Given the description of an element on the screen output the (x, y) to click on. 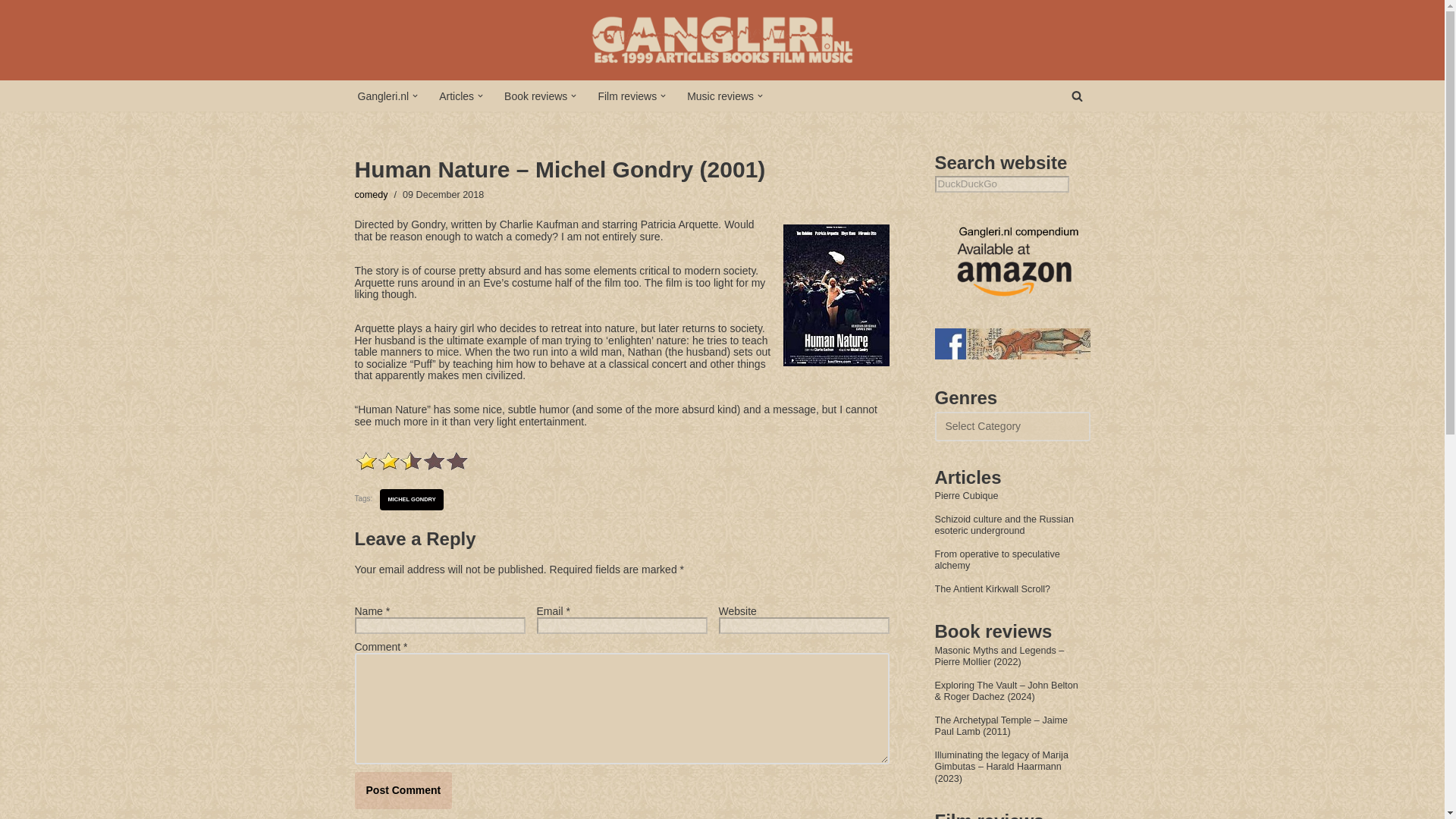
Film reviews (626, 95)
Skip to content (11, 31)
Michel Gondry (411, 499)
Articles (456, 95)
Gangleri.nl (383, 95)
Book reviews (535, 95)
Post Comment (403, 790)
Music reviews (720, 95)
